Given the description of an element on the screen output the (x, y) to click on. 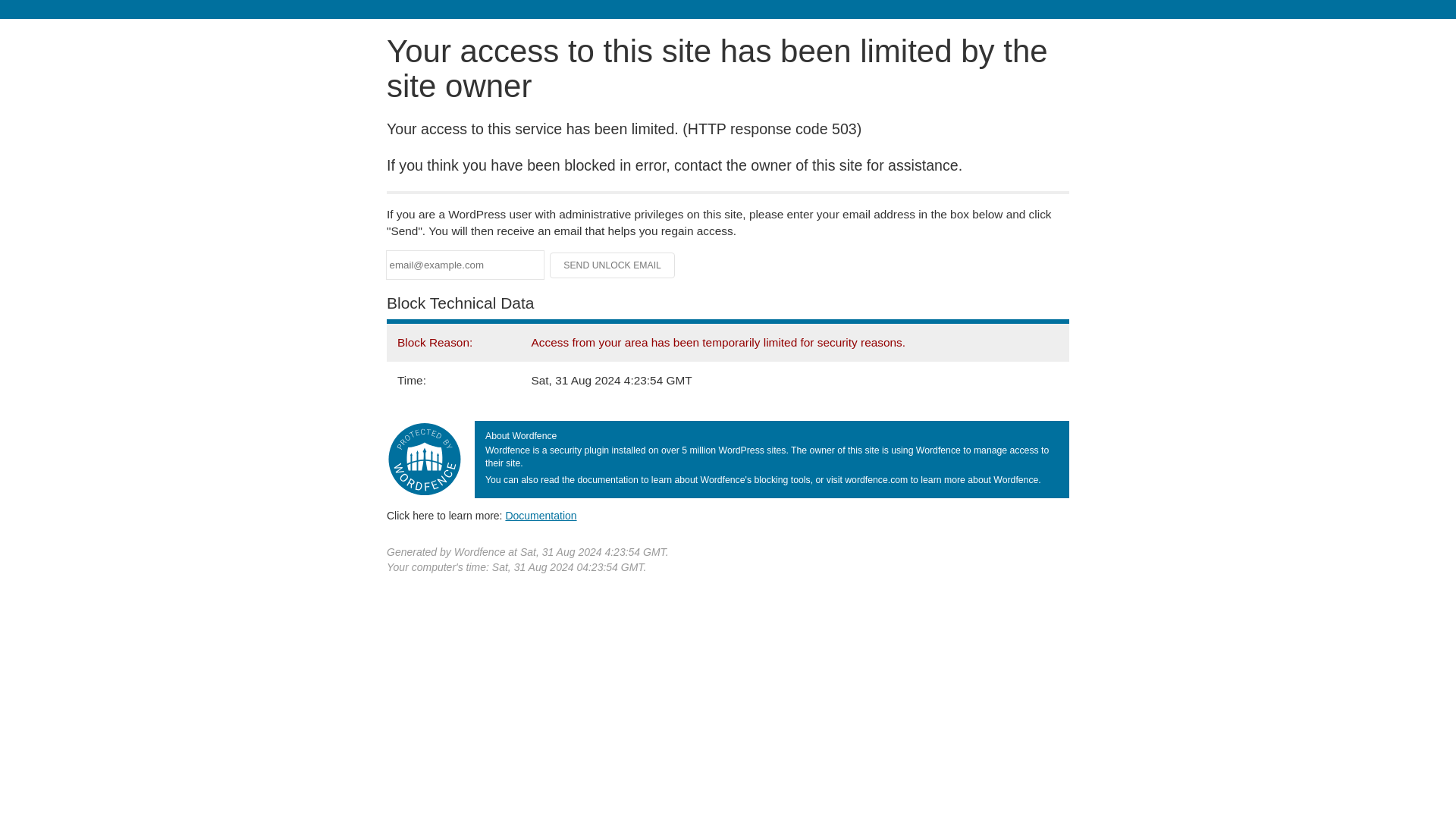
Send Unlock Email (612, 265)
Documentation (540, 515)
Send Unlock Email (612, 265)
